Given the description of an element on the screen output the (x, y) to click on. 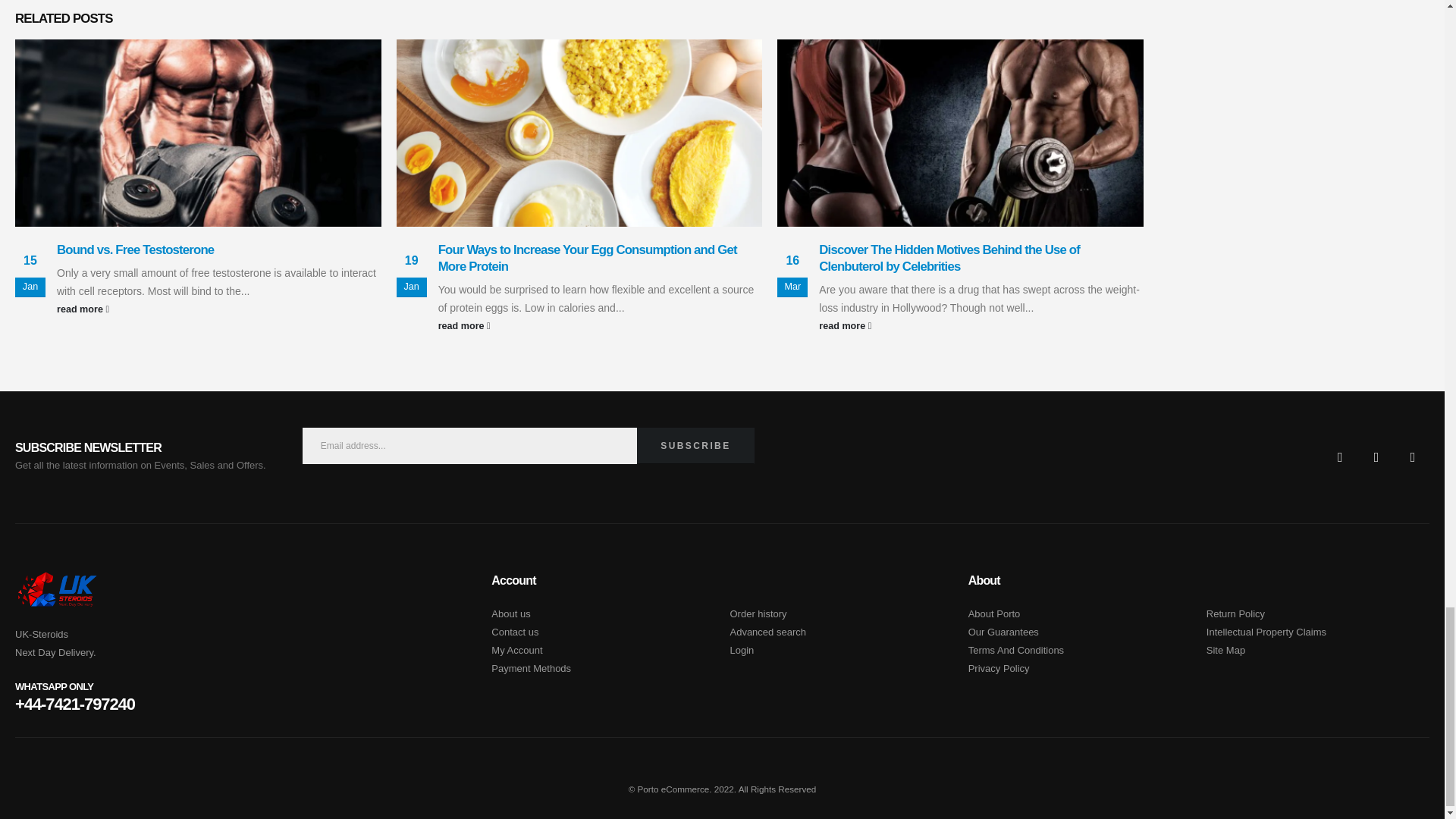
Instagram (1412, 457)
read more (980, 325)
read more (218, 309)
Subscribe (695, 445)
About us (510, 613)
Bound vs. Free Testosterone (135, 249)
Facebook (1339, 457)
Twitter (1376, 457)
